Given the description of an element on the screen output the (x, y) to click on. 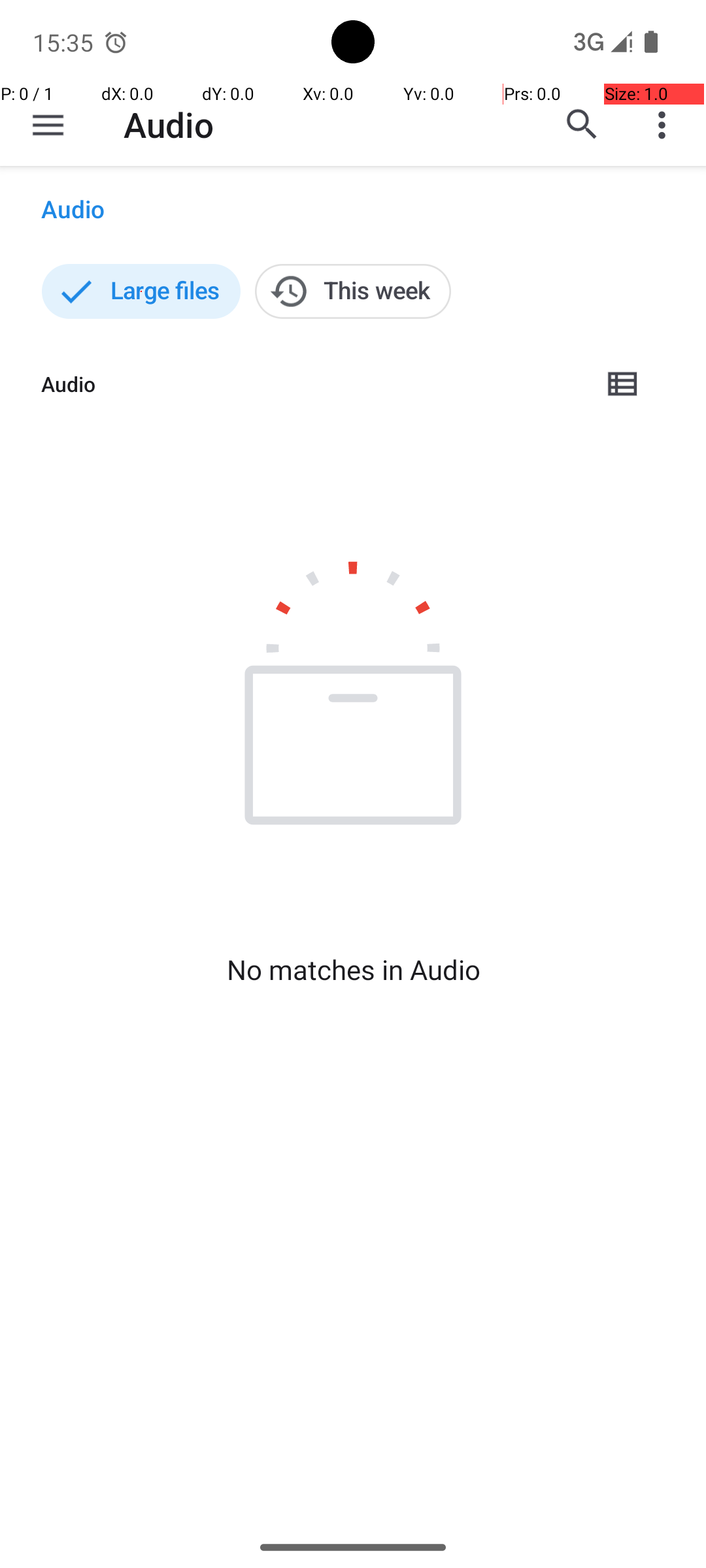
No matches in Audio Element type: android.widget.TextView (352, 968)
